Given the description of an element on the screen output the (x, y) to click on. 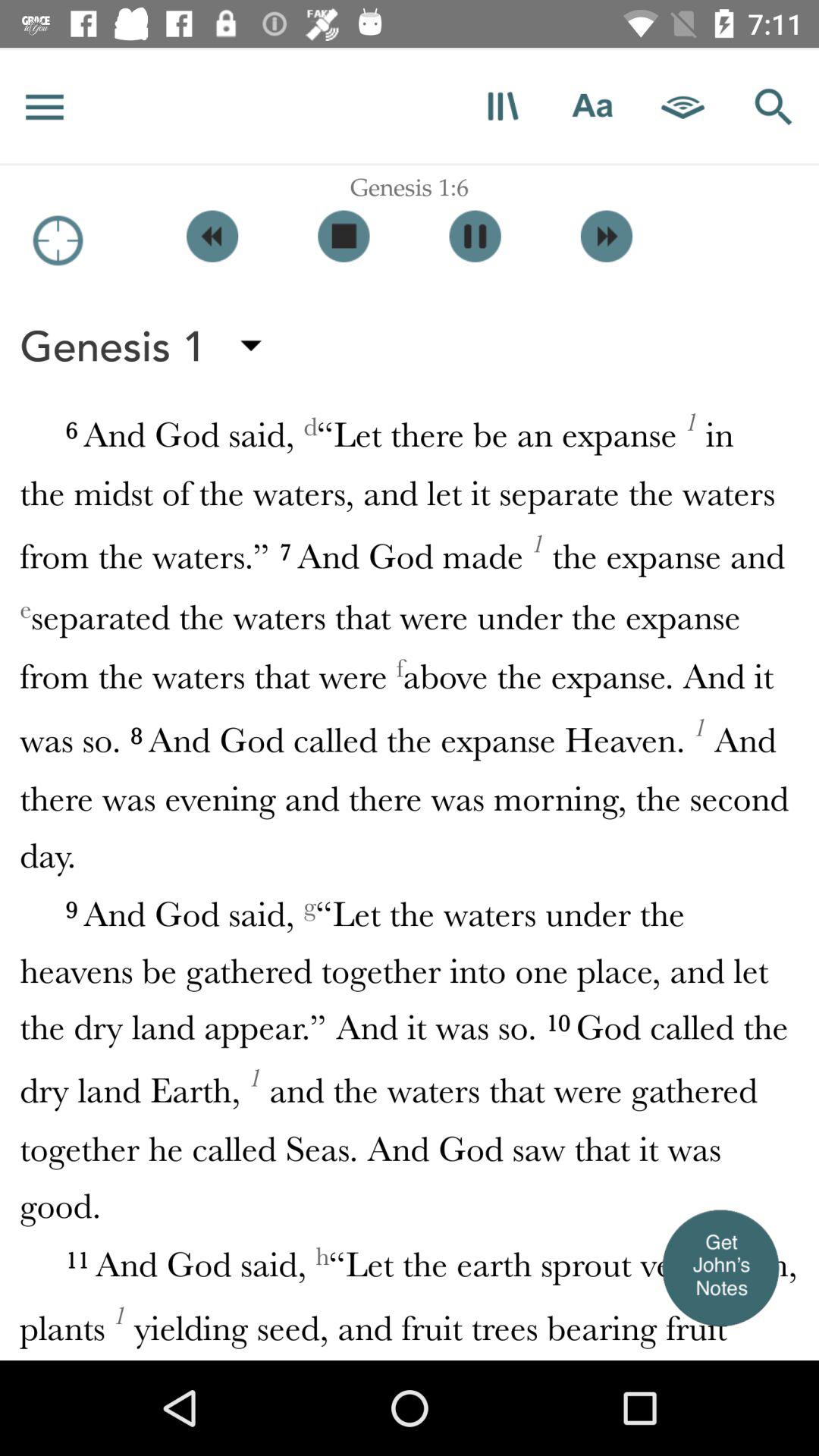
rewind (212, 236)
